Given the description of an element on the screen output the (x, y) to click on. 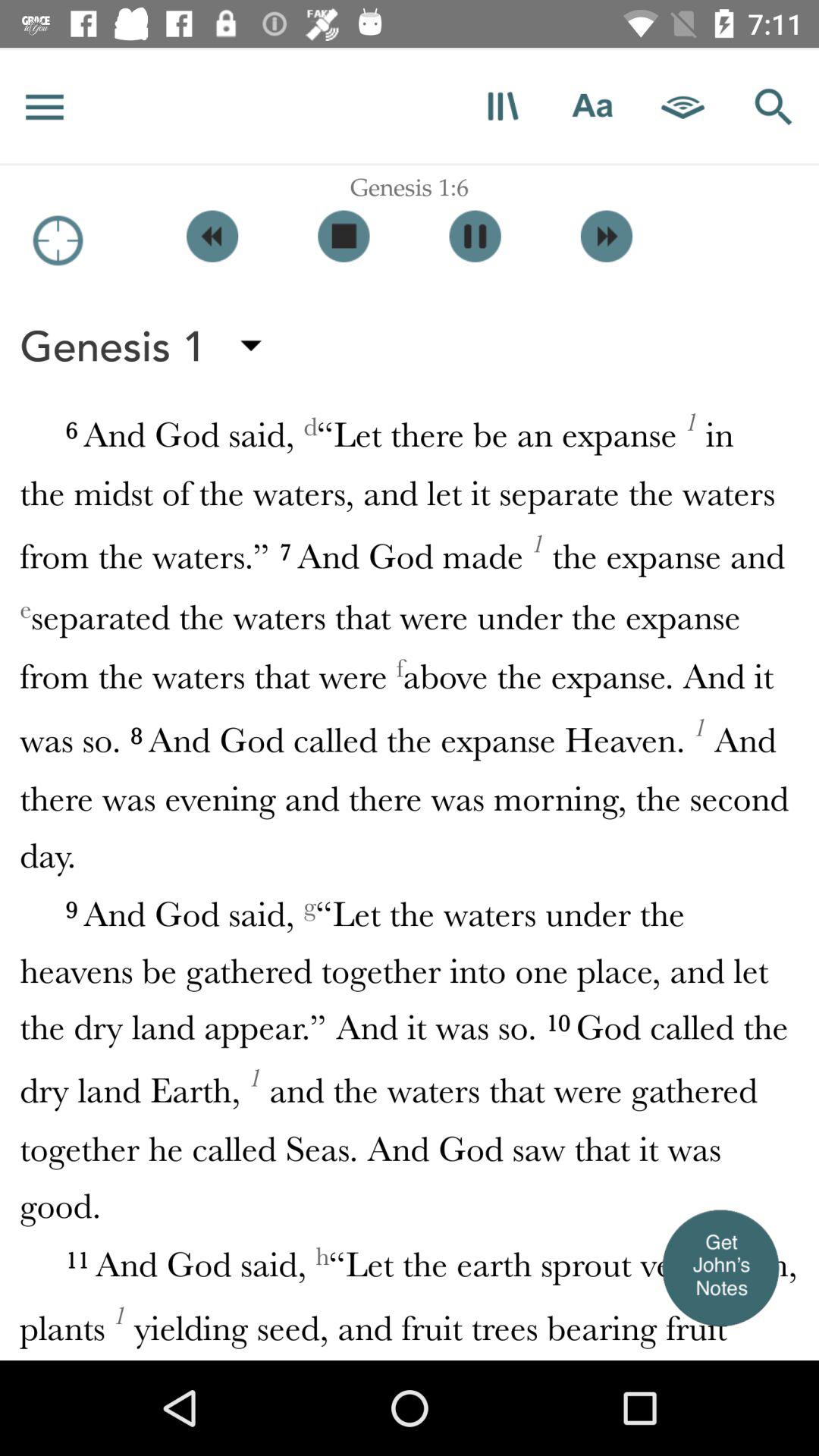
rewind (212, 236)
